Given the description of an element on the screen output the (x, y) to click on. 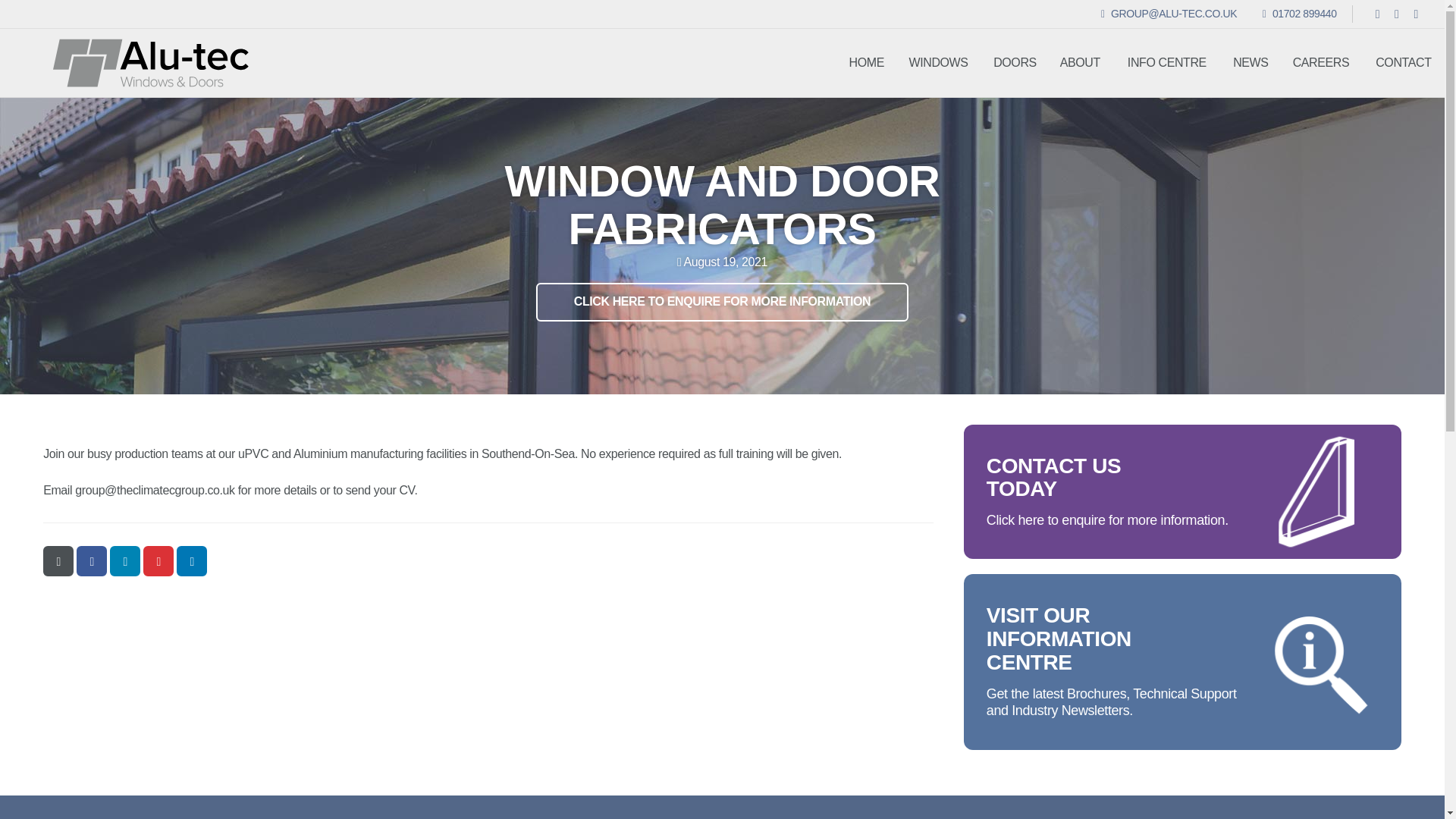
Share this post via Google Plus (157, 561)
Call us today (1299, 13)
ABOUT (1080, 62)
HOME (866, 62)
Get in Touch (1181, 492)
NEWS (721, 301)
Share this post via Linked In (1251, 62)
CAREERS (191, 561)
Share this post via Facebook (1320, 62)
01702 899440 (91, 561)
INFO CENTRE (1299, 13)
Share this post via Twitter (1166, 62)
WINDOWS (124, 561)
DOORS (938, 62)
